Given the description of an element on the screen output the (x, y) to click on. 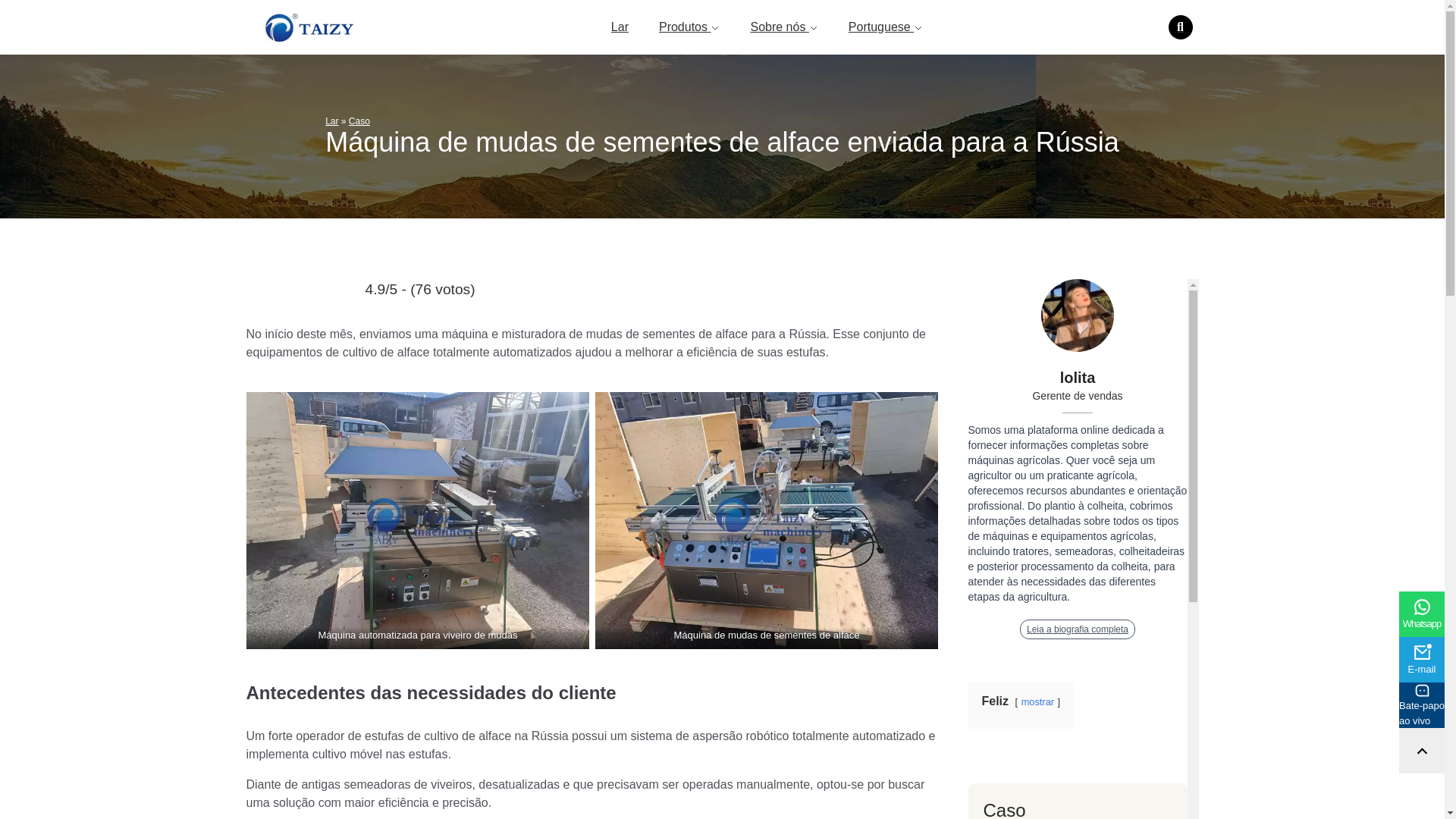
Lar (330, 121)
Produtos (689, 27)
Caso (359, 121)
Leia a biografia completa (1077, 629)
mostrar (1038, 701)
Lar (619, 27)
Portuguese (885, 27)
